Given the description of an element on the screen output the (x, y) to click on. 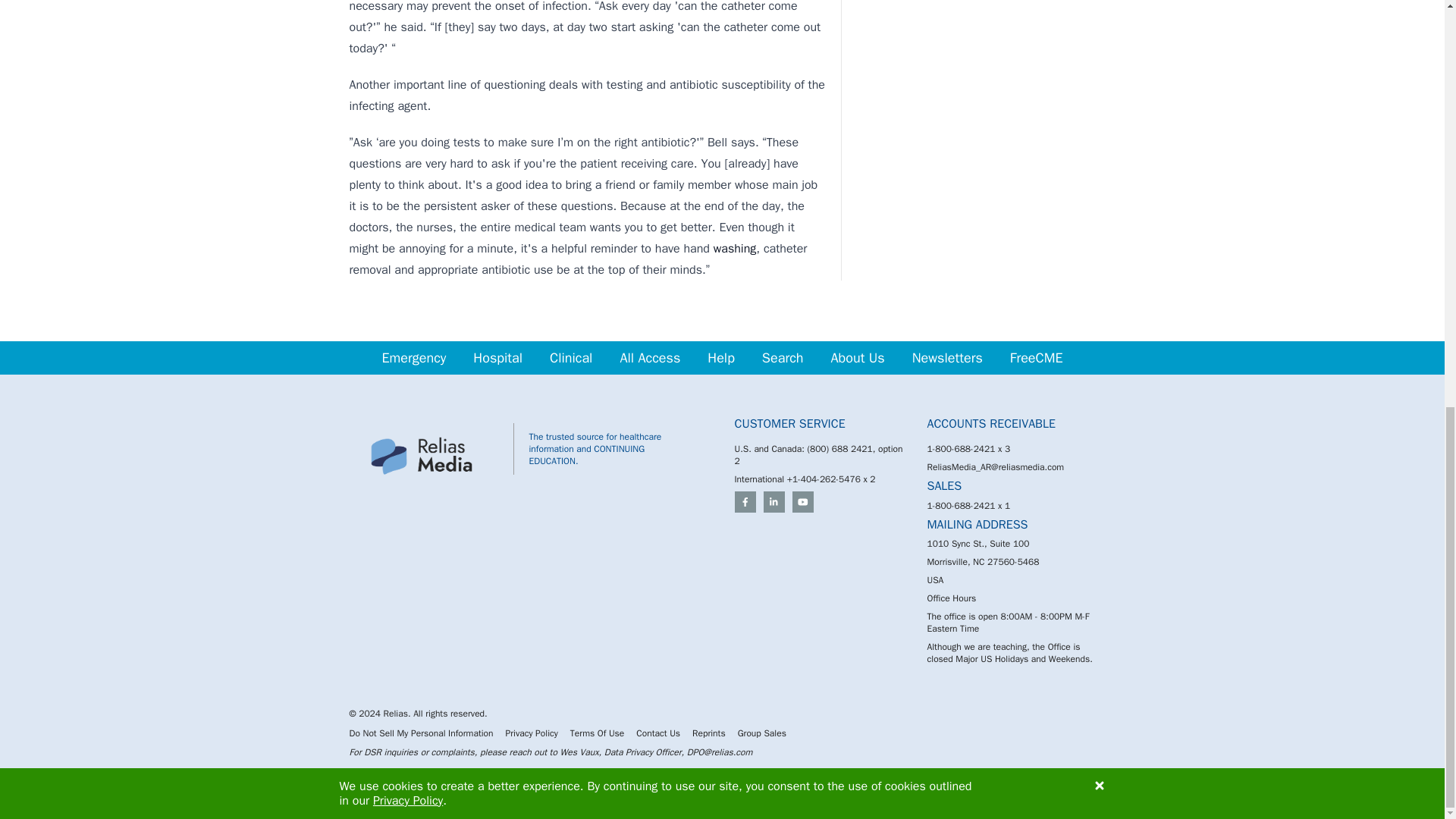
LinkedIn (773, 501)
Facebook (744, 501)
YouTube (802, 501)
